Given the description of an element on the screen output the (x, y) to click on. 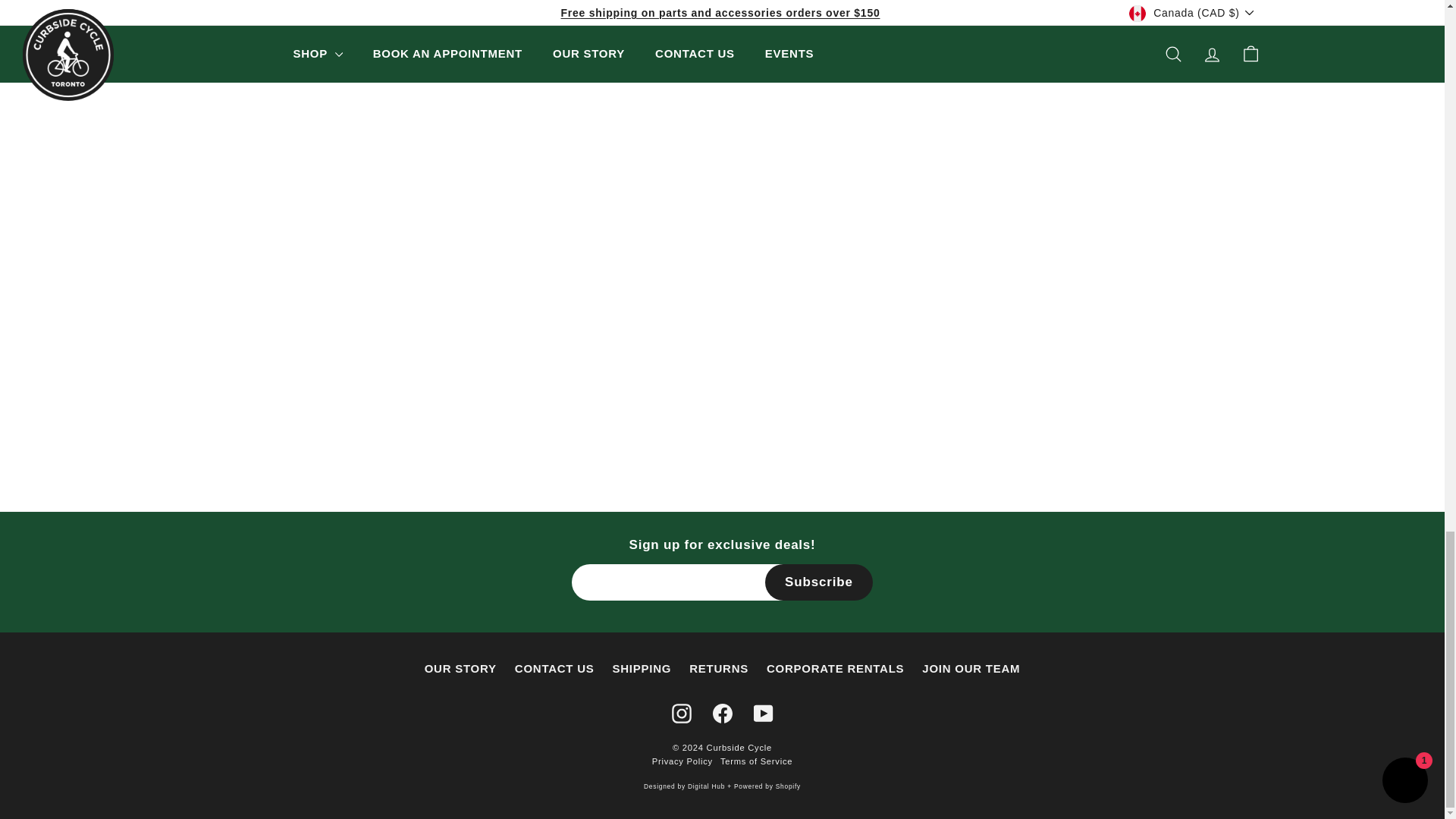
Curbside Cycle on YouTube (763, 713)
Curbside Cycle on Instagram (681, 713)
Curbside Cycle on Facebook (722, 713)
Subscribe (818, 582)
